Given the description of an element on the screen output the (x, y) to click on. 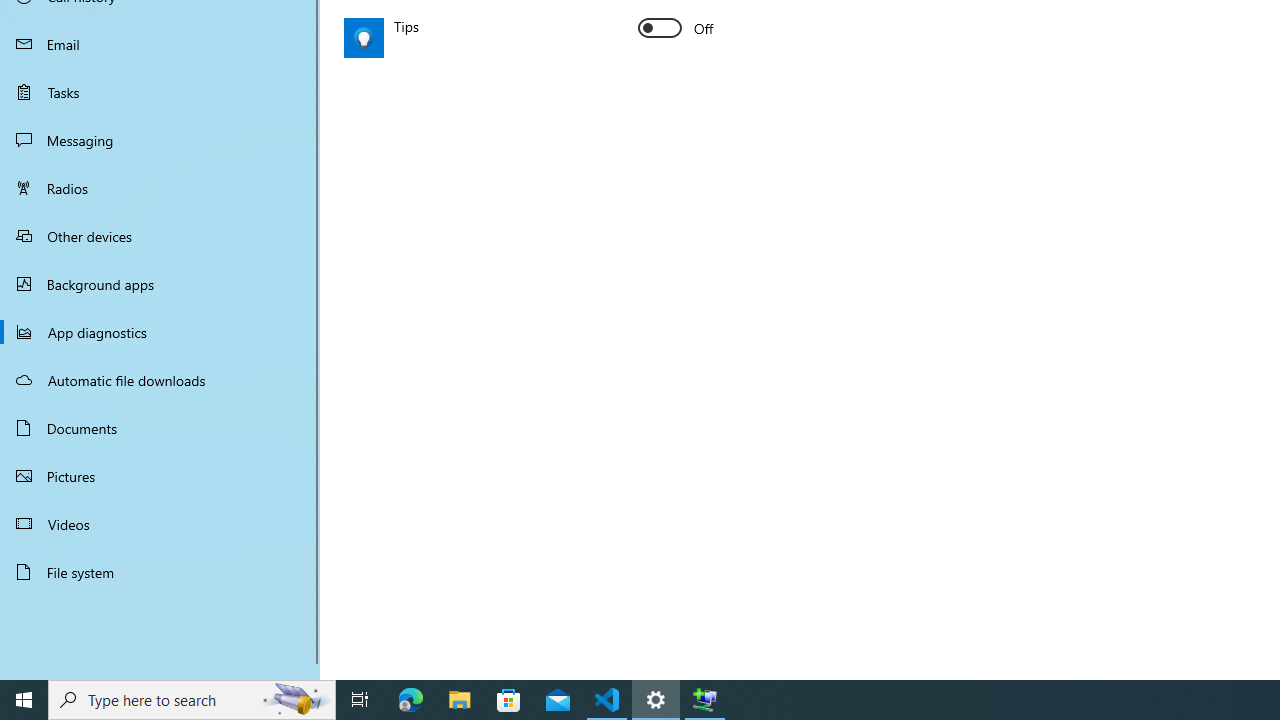
Start (24, 699)
Background apps (160, 283)
Email (160, 43)
Visual Studio Code - 1 running window (607, 699)
Type here to search (191, 699)
Tasks (160, 91)
File Explorer (460, 699)
Videos (160, 523)
Automatic file downloads (160, 379)
Task View (359, 699)
Extensible Wizards Host Process - 1 running window (704, 699)
Messaging (160, 139)
App diagnostics (160, 331)
File system (160, 571)
